Given the description of an element on the screen output the (x, y) to click on. 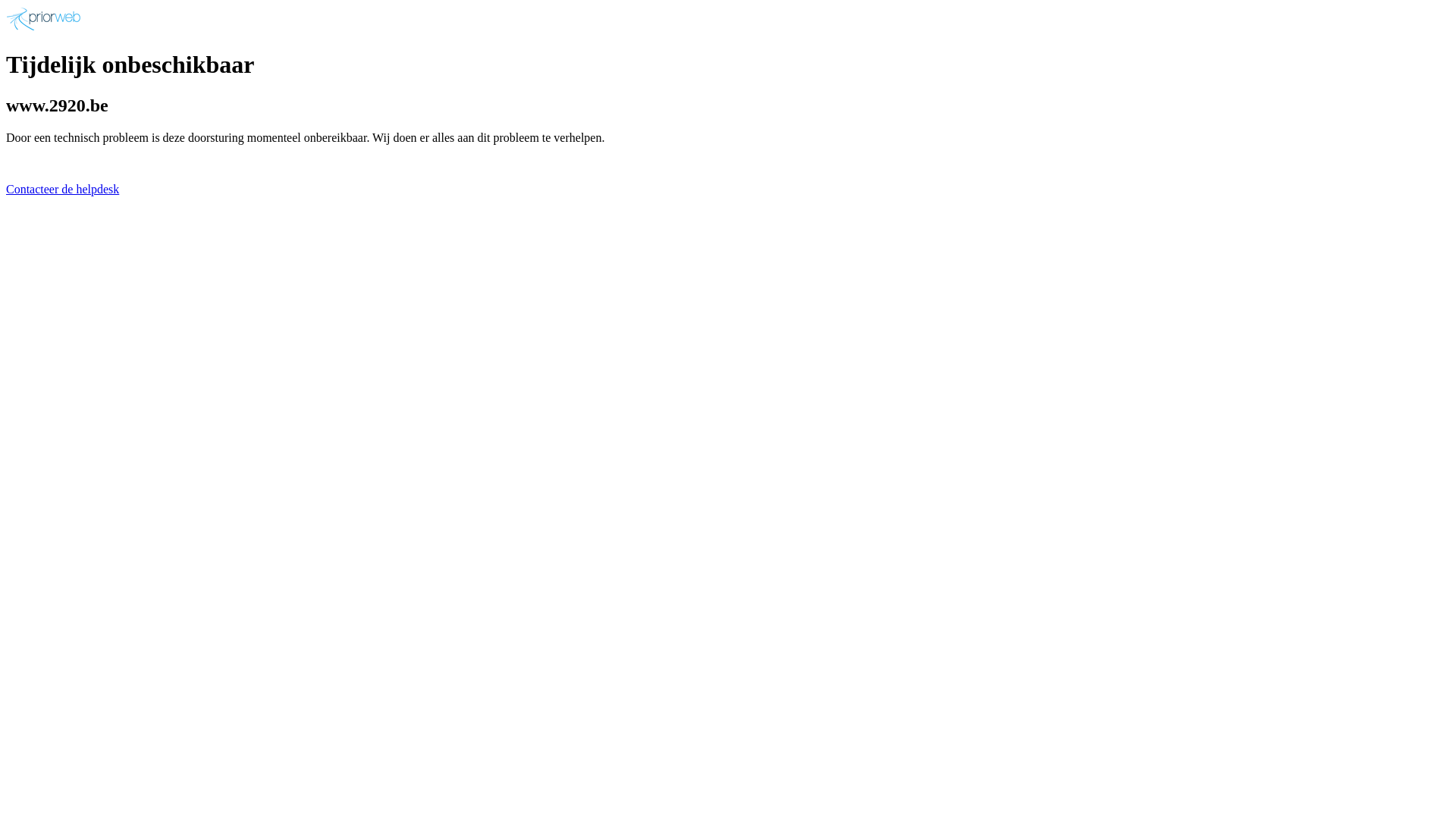
Contacteer de helpdesk Element type: text (62, 188)
